Given the description of an element on the screen output the (x, y) to click on. 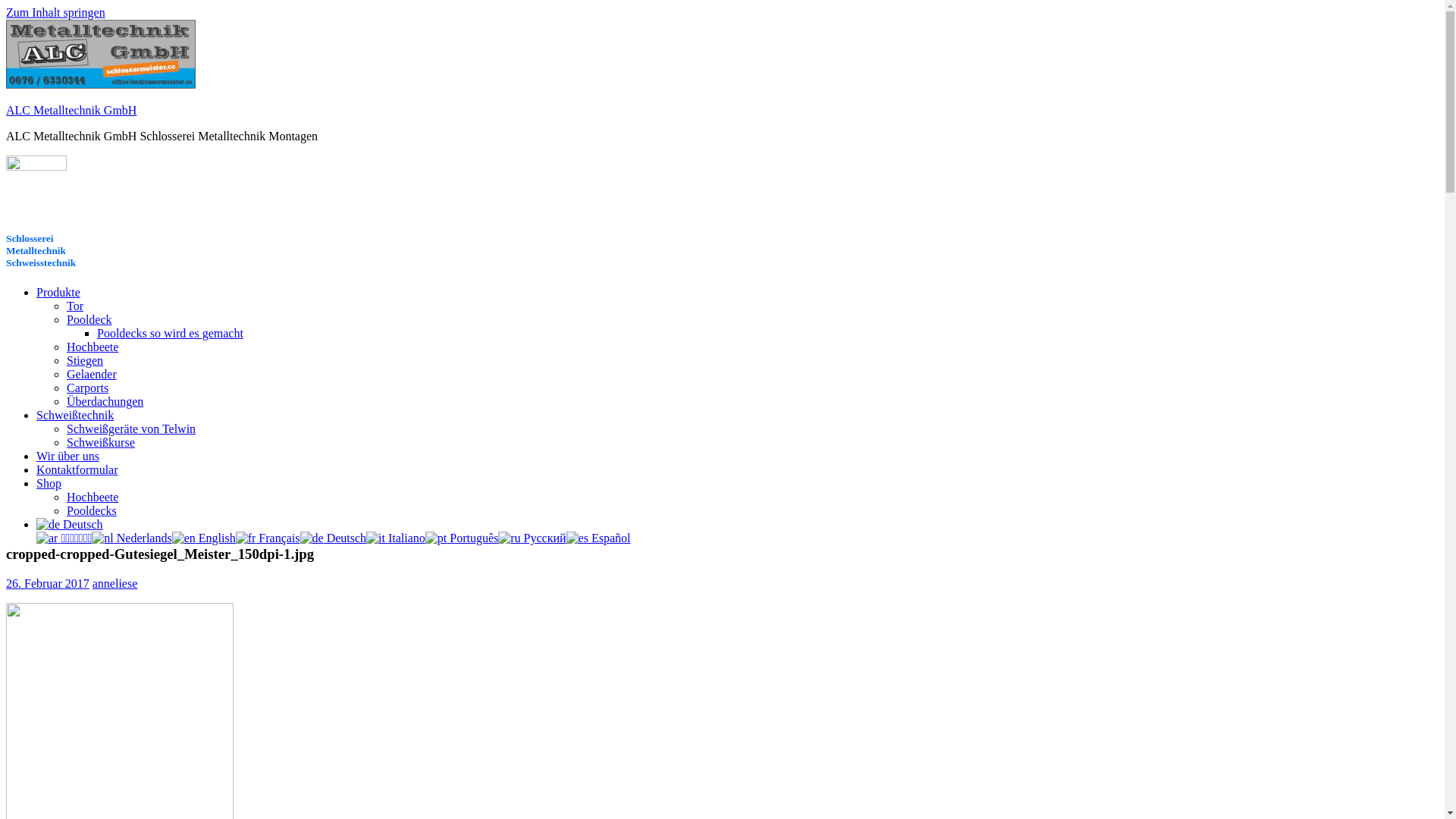
Kontaktformular Element type: text (77, 469)
Tor Element type: text (74, 305)
26. Februar 2017 Element type: text (47, 583)
Deutsch Element type: text (69, 523)
Stiegen Element type: text (84, 360)
Carports Element type: text (87, 387)
ALC Metalltechnik GmbH Element type: text (71, 109)
Gelaender Element type: text (91, 373)
Deutsch Element type: text (333, 537)
Hochbeete Element type: text (92, 496)
Zum Inhalt springen Element type: text (55, 12)
Pooldecks Element type: text (91, 510)
Italiano Element type: text (395, 537)
Pooldeck Element type: text (89, 319)
Hochbeete Element type: text (92, 346)
anneliese Element type: text (115, 583)
Pooldecks so wird es gemacht Element type: text (170, 332)
Nederlands Element type: text (131, 537)
Produkte Element type: text (58, 291)
Shop Element type: text (48, 482)
English Element type: text (203, 537)
